Given the description of an element on the screen output the (x, y) to click on. 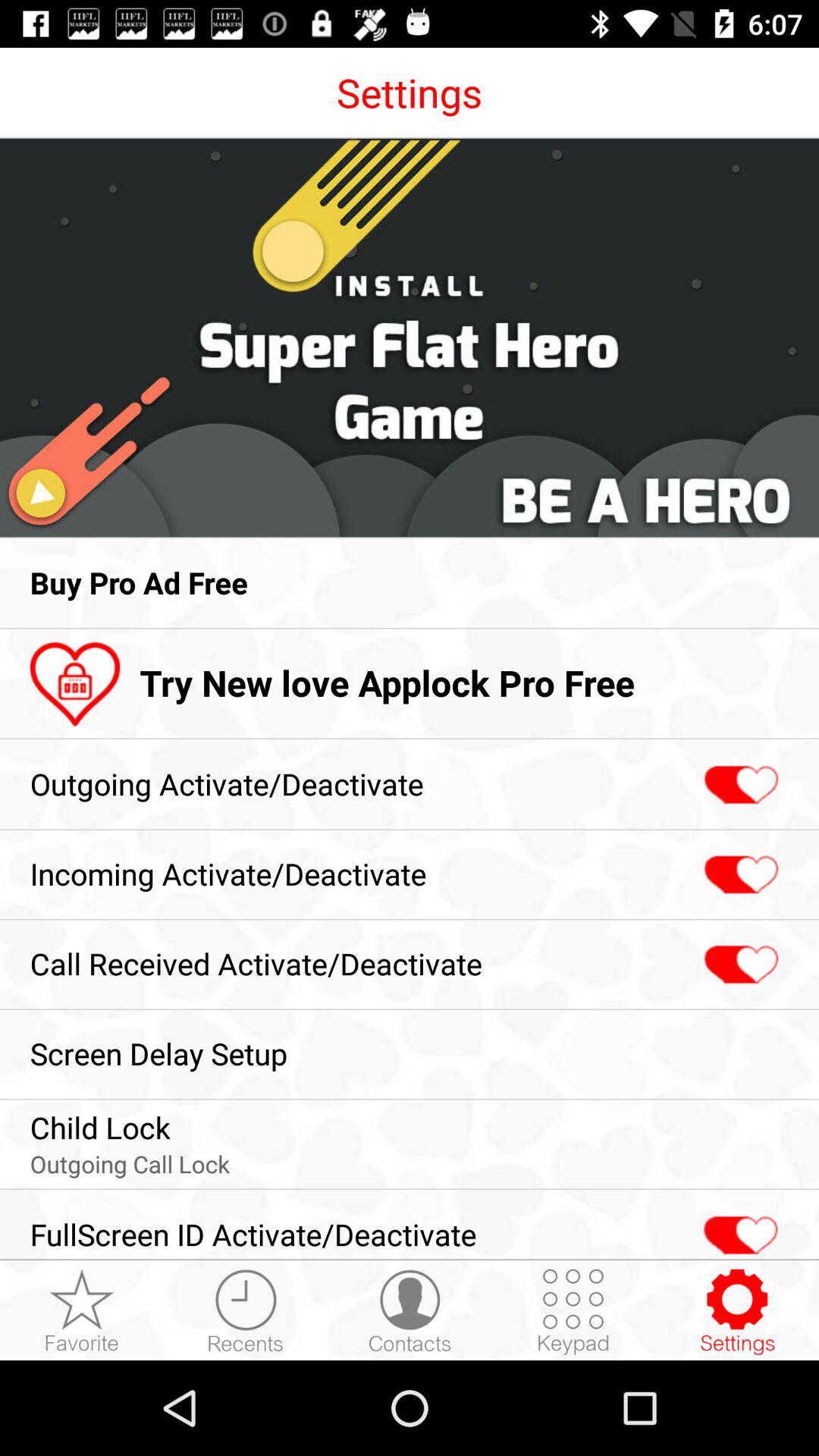
toggle call received activate-deactivate (739, 964)
